Given the description of an element on the screen output the (x, y) to click on. 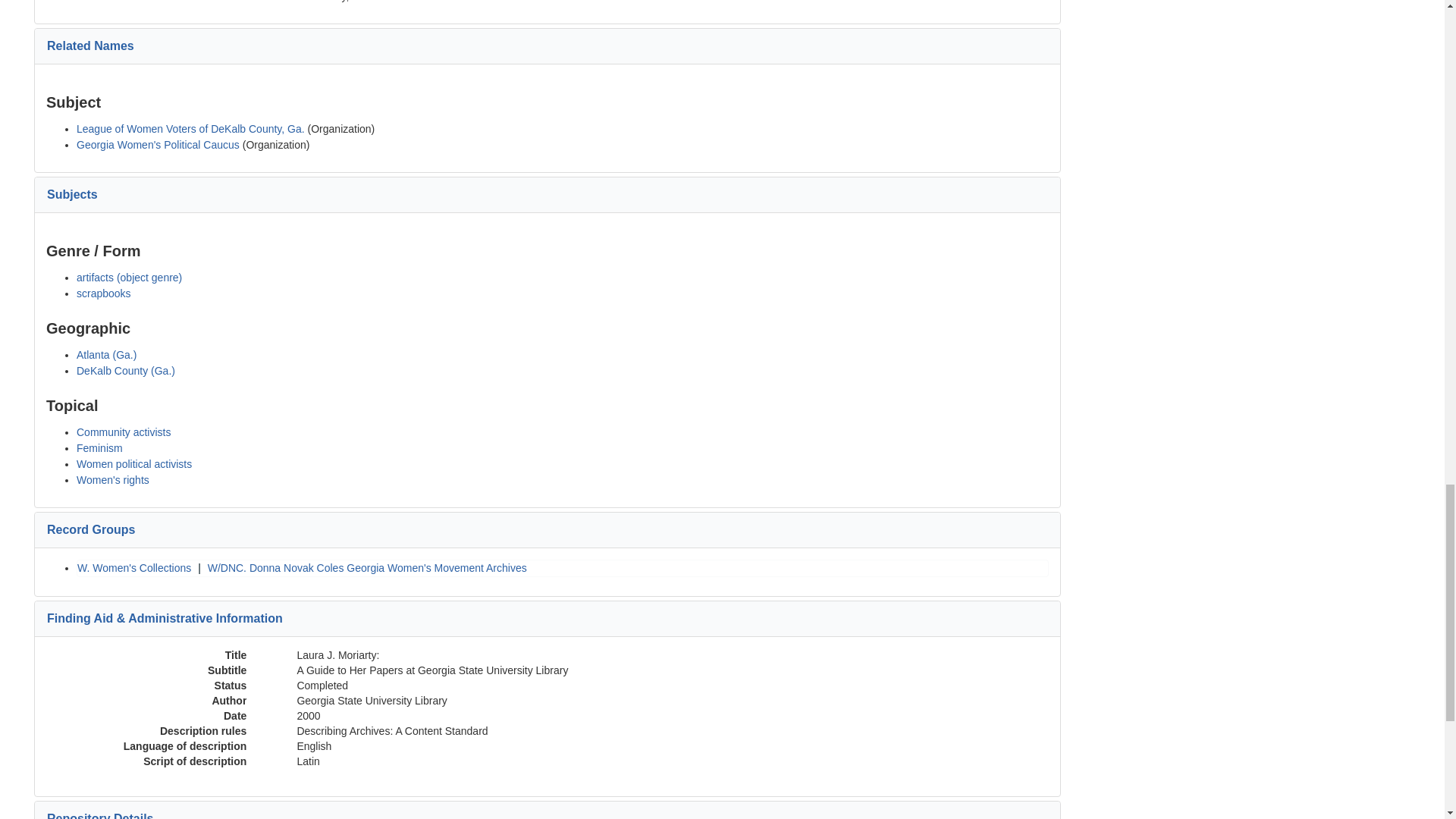
Related Names (89, 45)
W. Women's Collections (133, 567)
scrapbooks (104, 293)
League of Women Voters of DeKalb County, Ga. (190, 128)
Feminism (99, 448)
Record Groups (90, 529)
Subjects (71, 194)
Georgia Women's Political Caucus (158, 144)
Women's rights (113, 480)
Women political activists (134, 463)
